Given the description of an element on the screen output the (x, y) to click on. 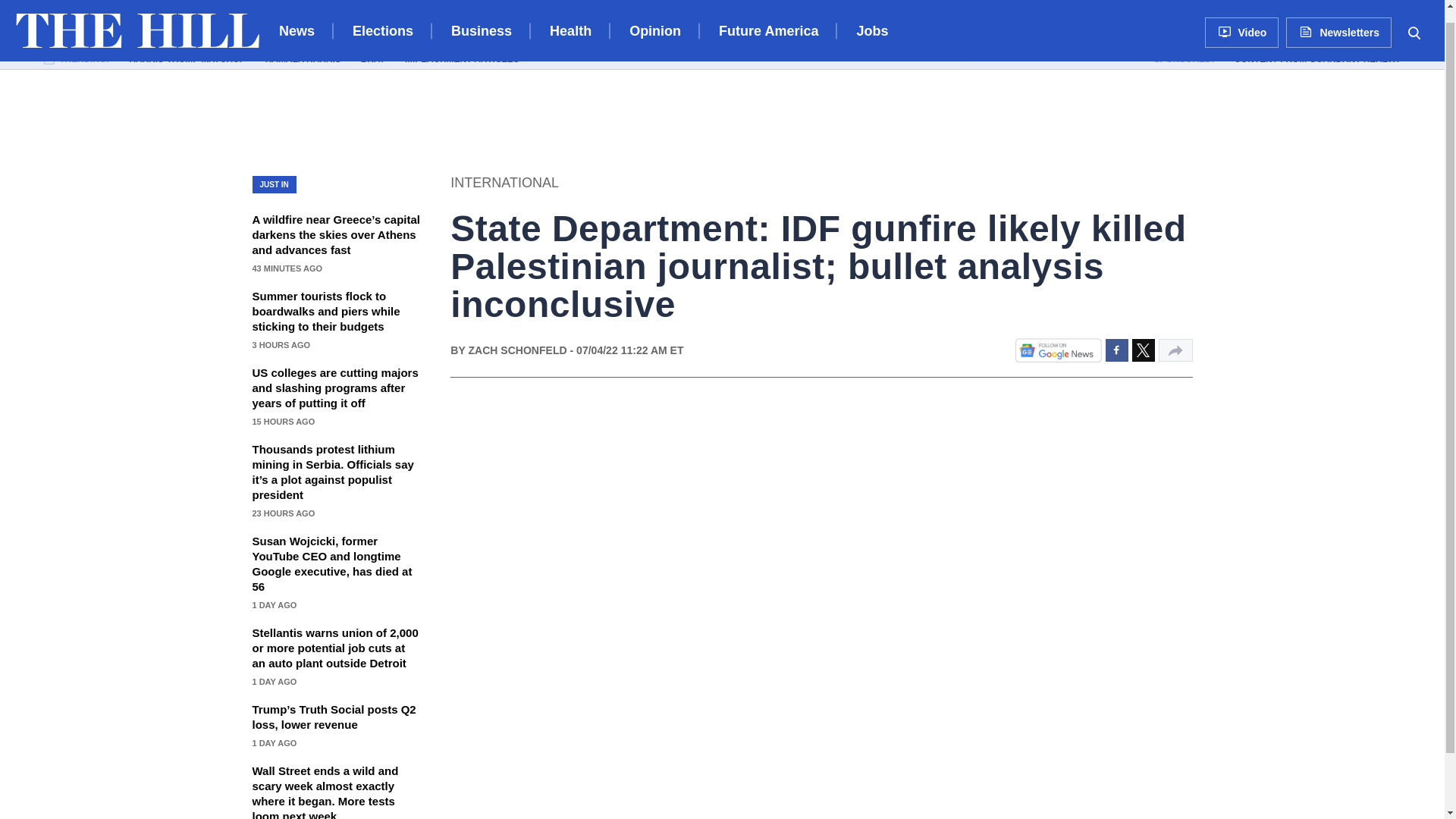
International (504, 182)
Elections (382, 18)
Search (1414, 18)
Business (481, 18)
News (296, 18)
